Given the description of an element on the screen output the (x, y) to click on. 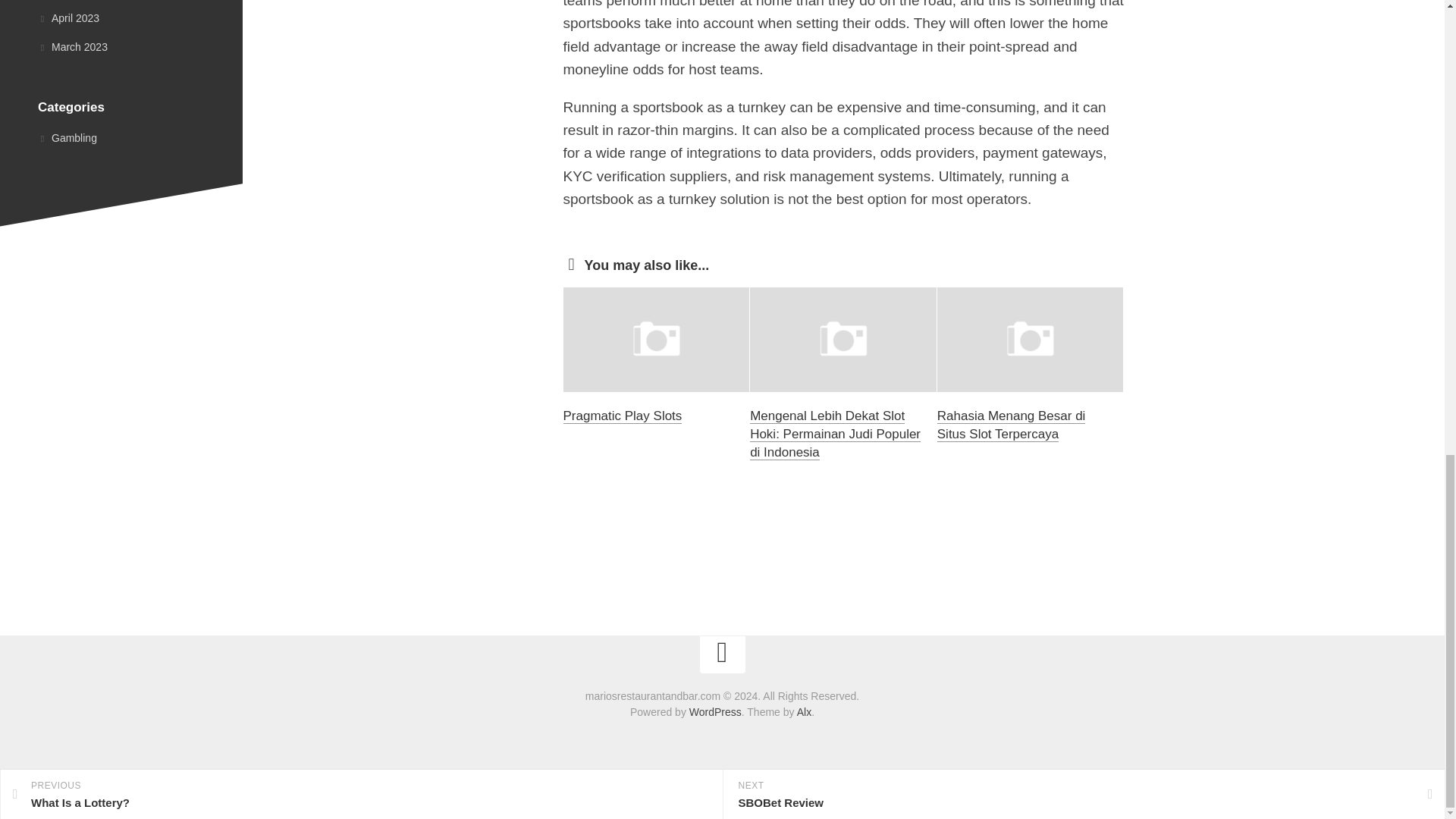
April 2023 (68, 18)
Gambling (67, 137)
Alx (803, 711)
March 2023 (72, 46)
Pragmatic Play Slots (621, 415)
WordPress (714, 711)
Rahasia Menang Besar di Situs Slot Terpercaya (1011, 424)
